Given the description of an element on the screen output the (x, y) to click on. 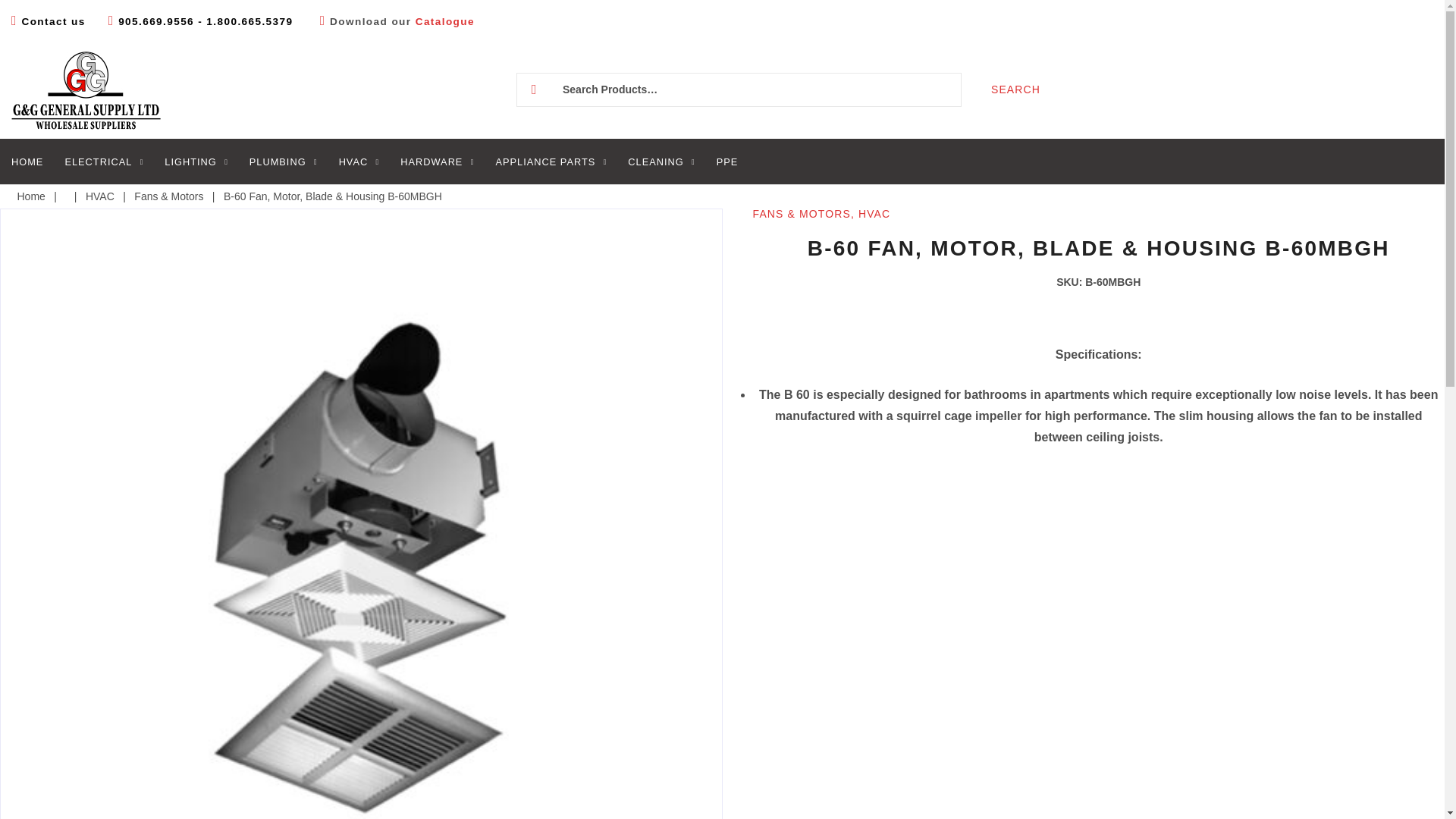
Home (30, 196)
Search for: (738, 89)
HVAC (359, 161)
LIGHTING (195, 161)
HARDWARE (437, 161)
Catalogue (444, 21)
PLUMBING (282, 161)
HVAC (100, 196)
Contact us (52, 21)
HOME (27, 161)
SEARCH (1015, 89)
ELECTRICAL (103, 161)
905.669.9556 - 1.800.665.5379  (207, 21)
